Given the description of an element on the screen output the (x, y) to click on. 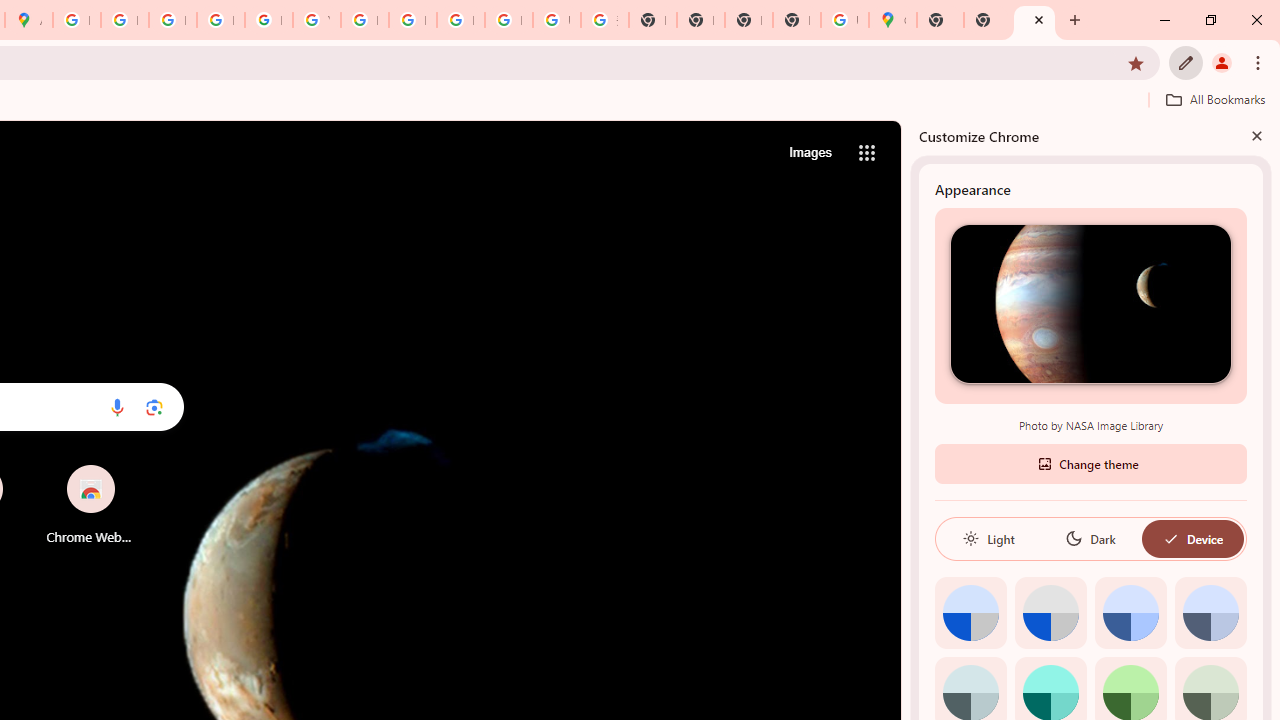
Chrome Web Store (90, 504)
New Tab (987, 20)
Privacy Help Center - Policies Help (124, 20)
Grey default color (1050, 612)
Light (988, 538)
Cool grey (1210, 612)
New Tab (1034, 20)
